Given the description of an element on the screen output the (x, y) to click on. 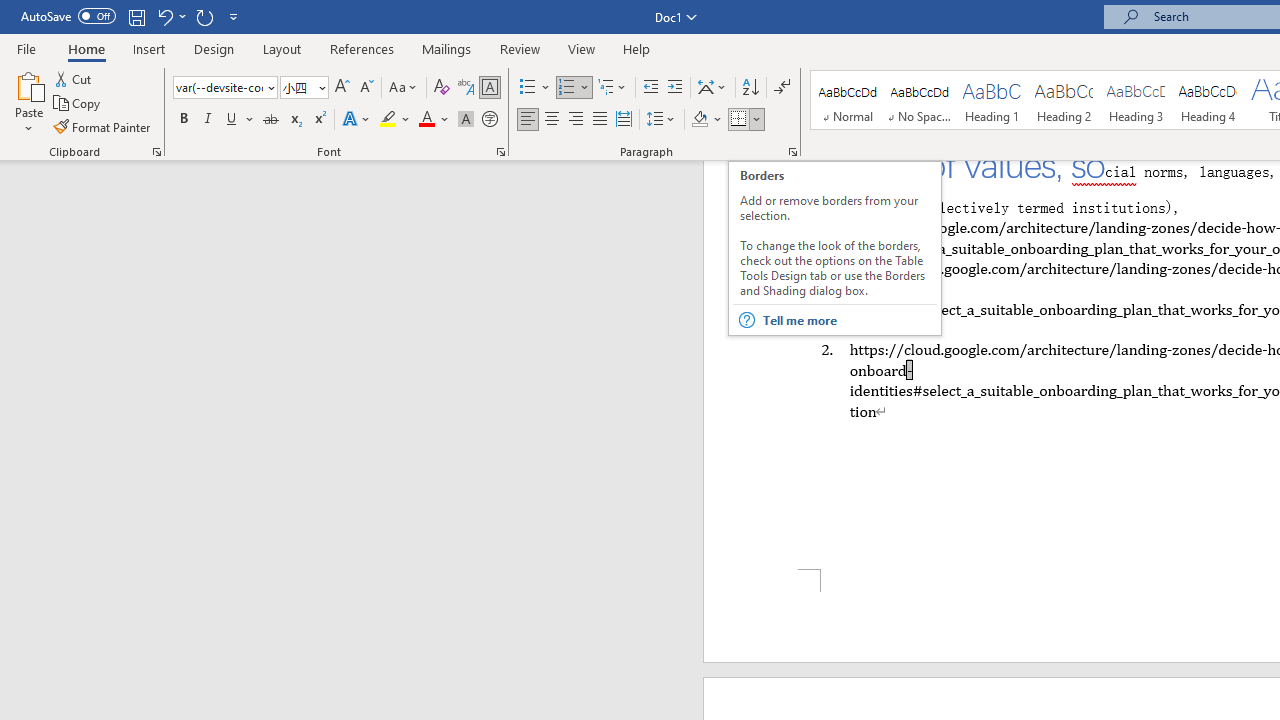
Repeat Border Bottom (204, 15)
Tell me more (848, 320)
